Given the description of an element on the screen output the (x, y) to click on. 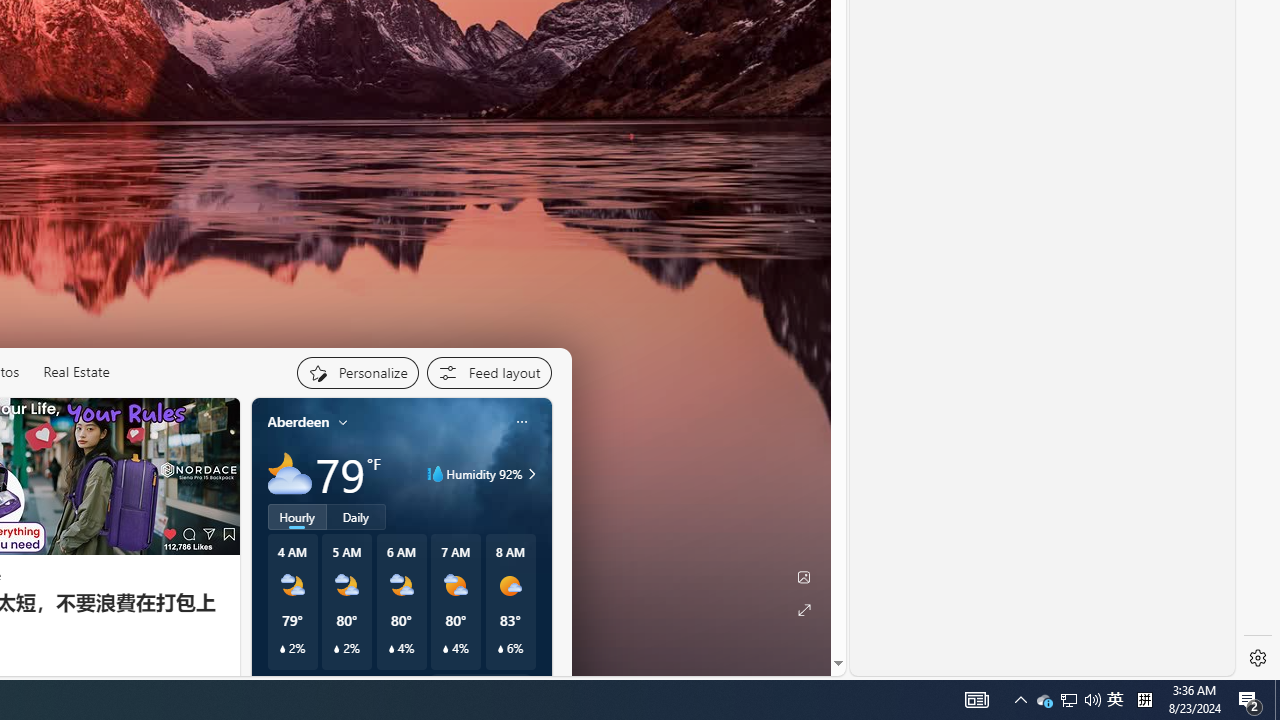
Daily (356, 516)
